Given the description of an element on the screen output the (x, y) to click on. 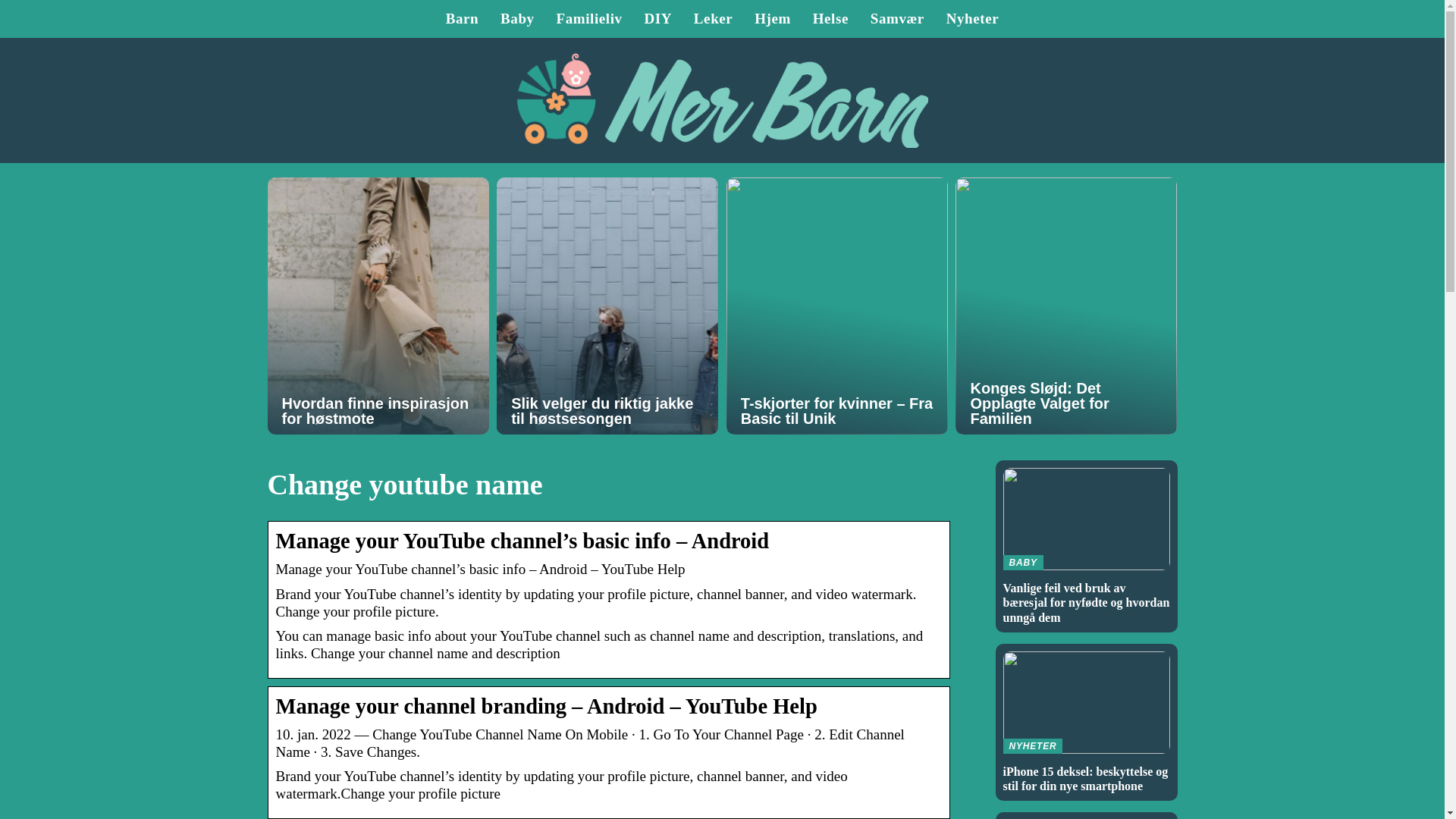
Familieliv (588, 18)
DIY (657, 18)
Helse (830, 18)
Hjem (772, 18)
Baby (517, 18)
Nyheter (972, 18)
Barn (462, 18)
Leker (713, 18)
